Given the description of an element on the screen output the (x, y) to click on. 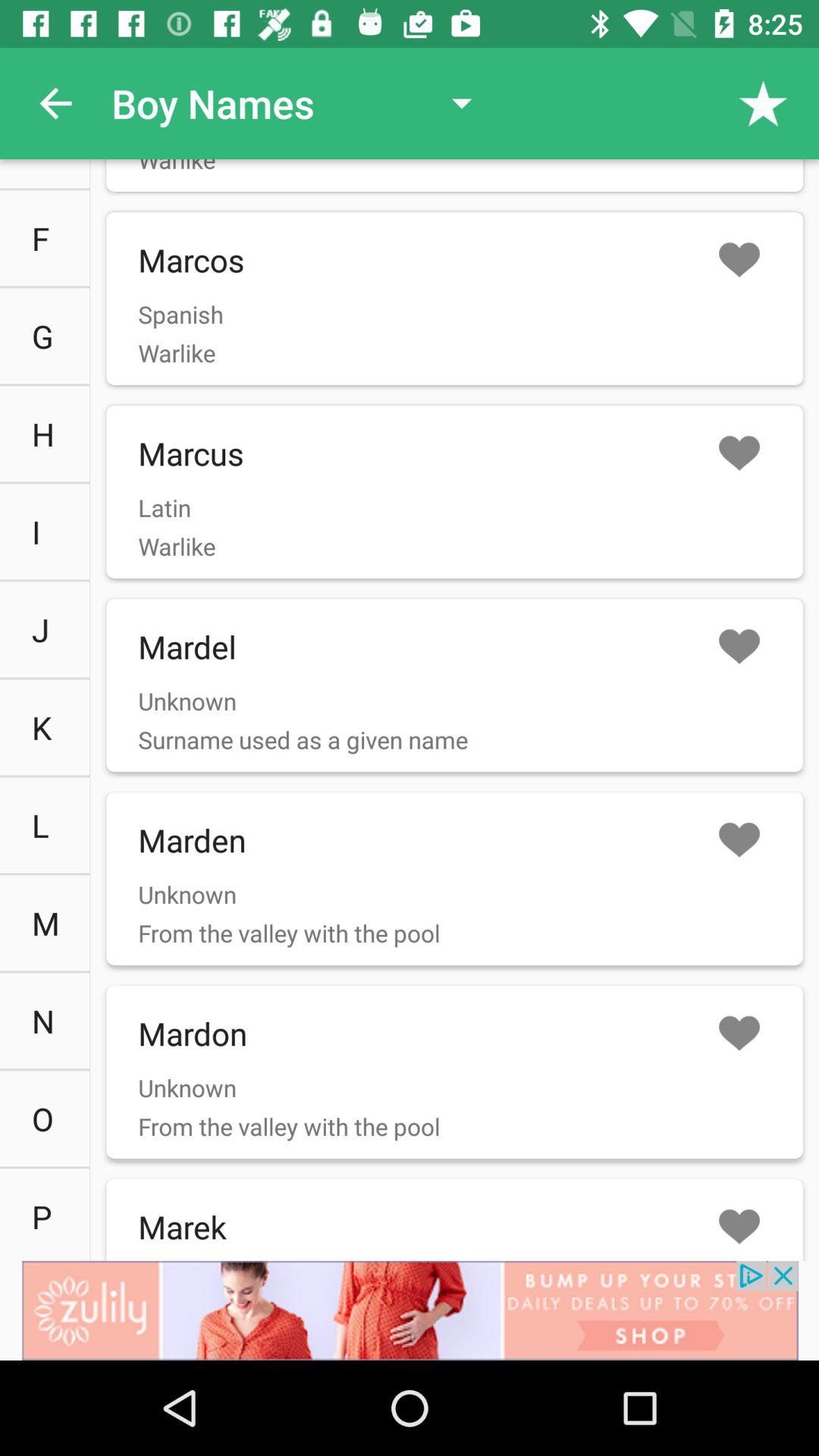
click on advertisements (409, 1310)
